Given the description of an element on the screen output the (x, y) to click on. 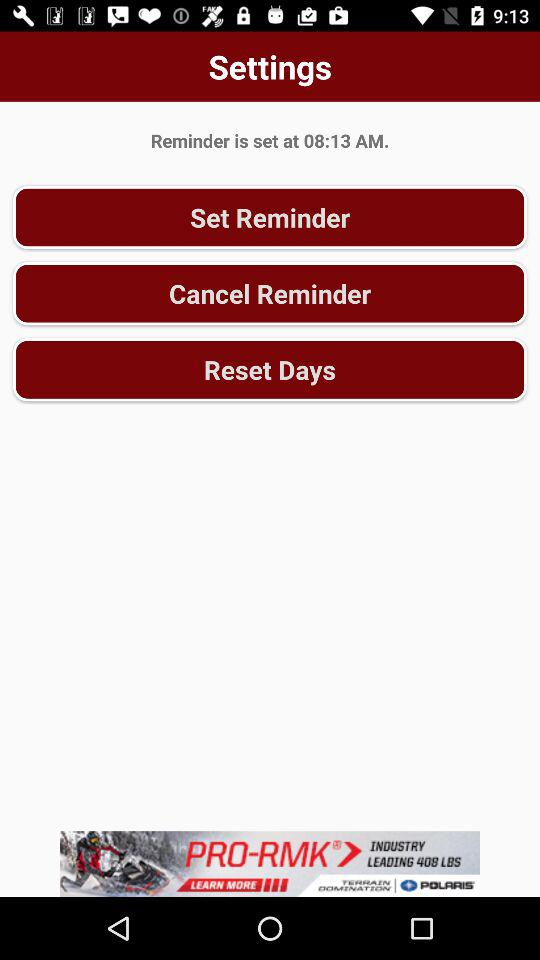
advertisement (270, 864)
